Given the description of an element on the screen output the (x, y) to click on. 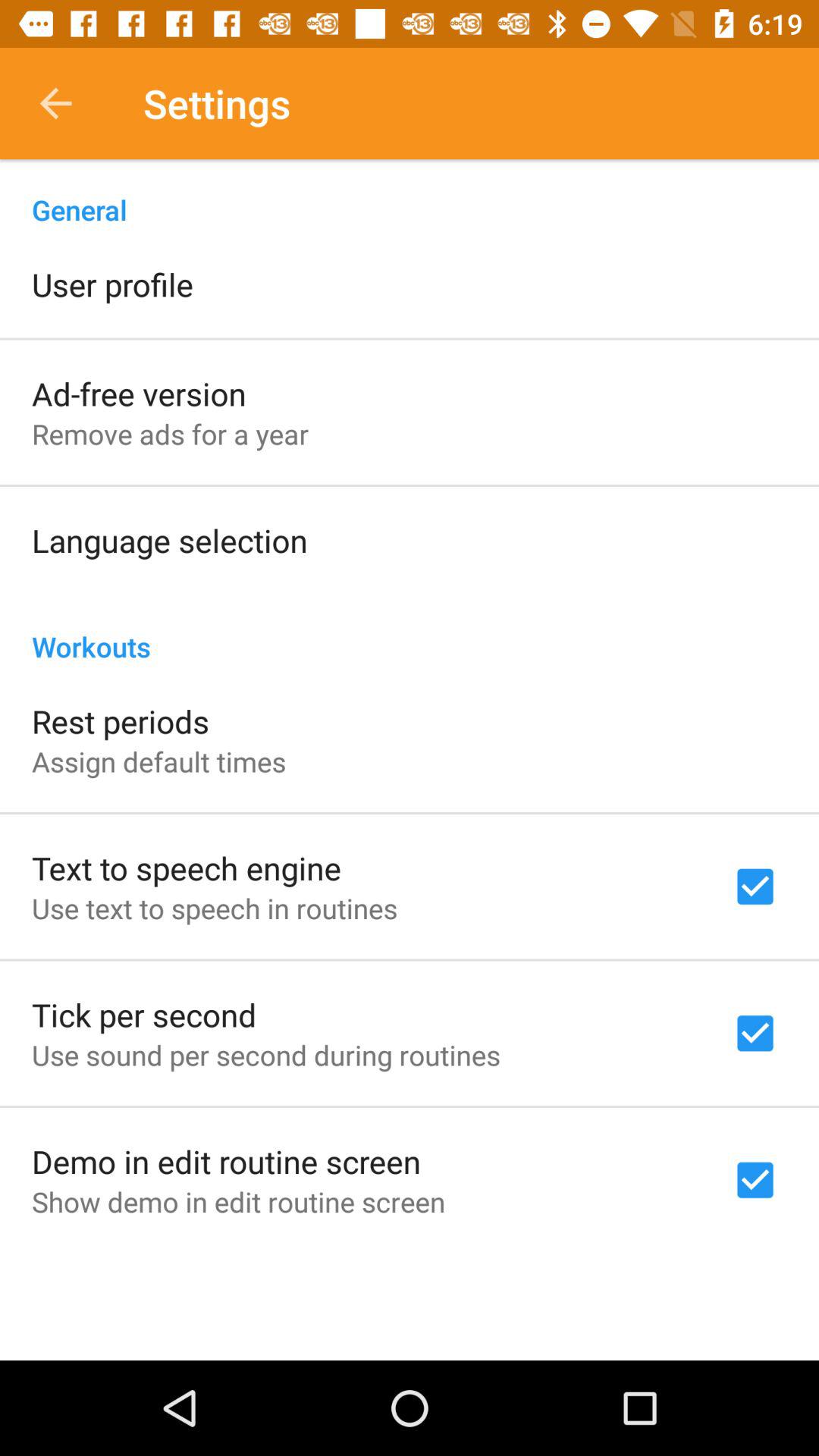
launch the item below user profile icon (138, 393)
